Given the description of an element on the screen output the (x, y) to click on. 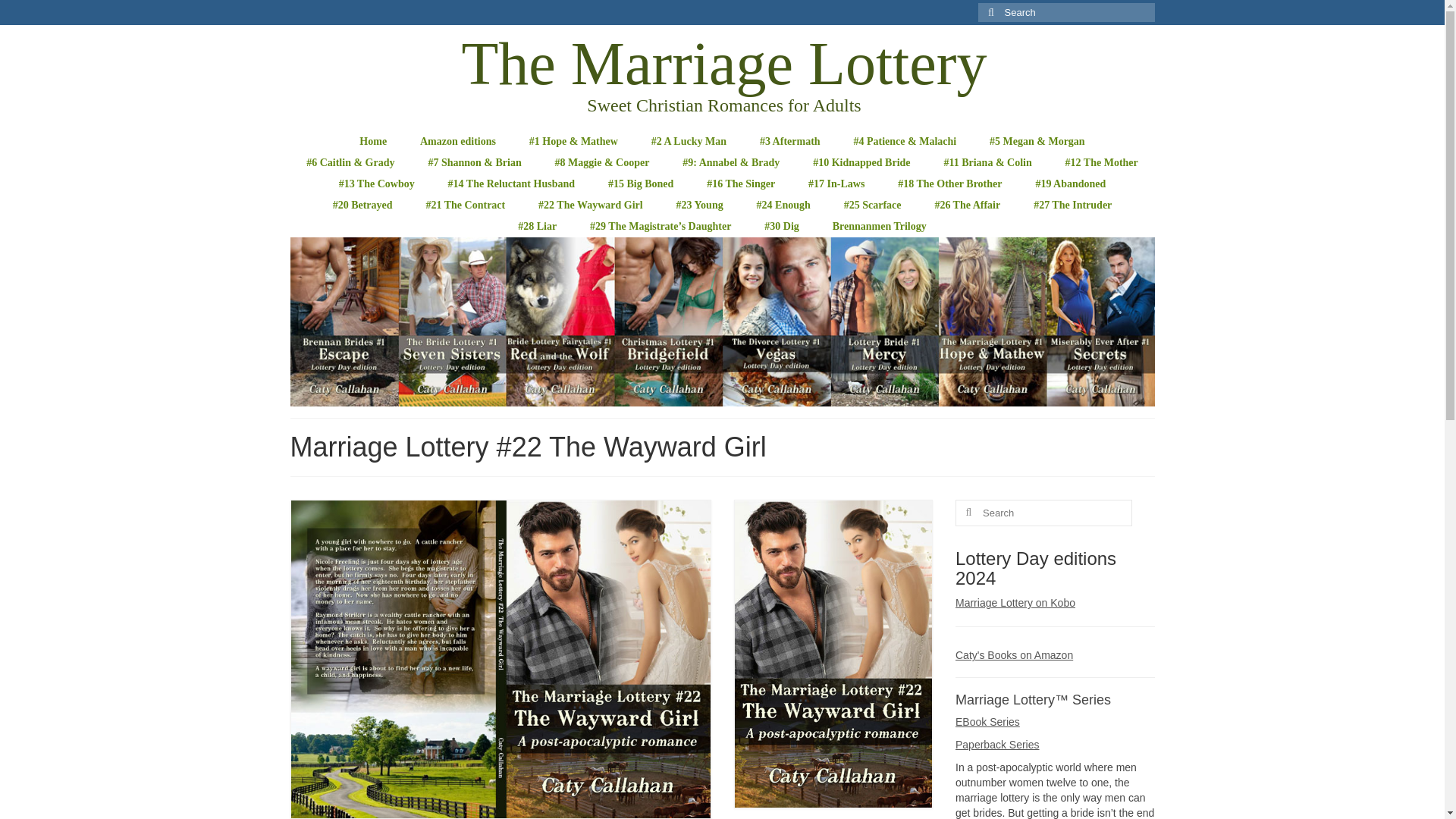
The Marriage Lottery (724, 63)
Amazon editions (457, 141)
Brennanmen Trilogy (879, 226)
Home (372, 141)
